Given the description of an element on the screen output the (x, y) to click on. 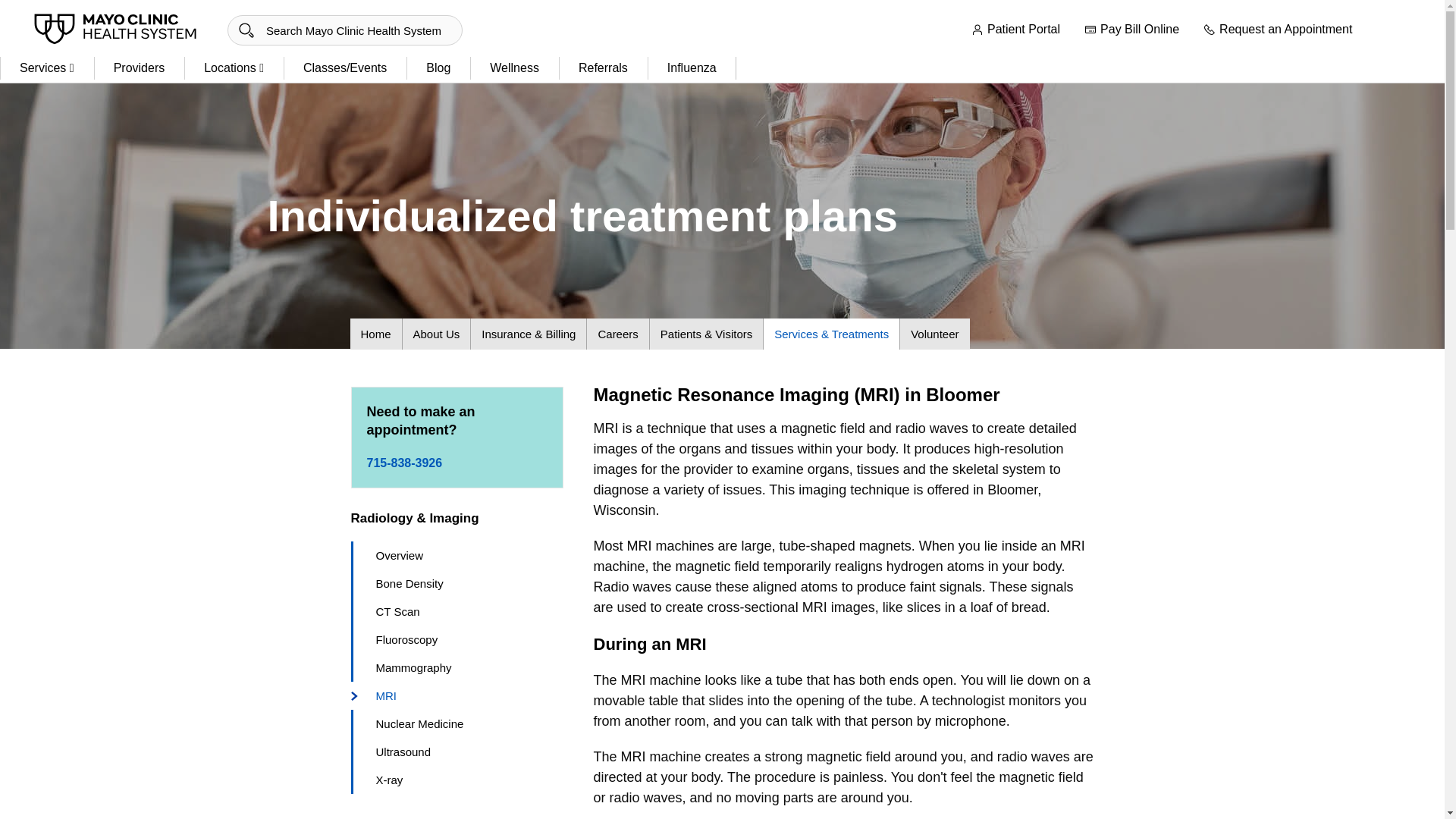
Request an Appointment (1278, 30)
Pay Bill Online (1131, 30)
Providers (139, 68)
Patient Portal (1015, 30)
